Given the description of an element on the screen output the (x, y) to click on. 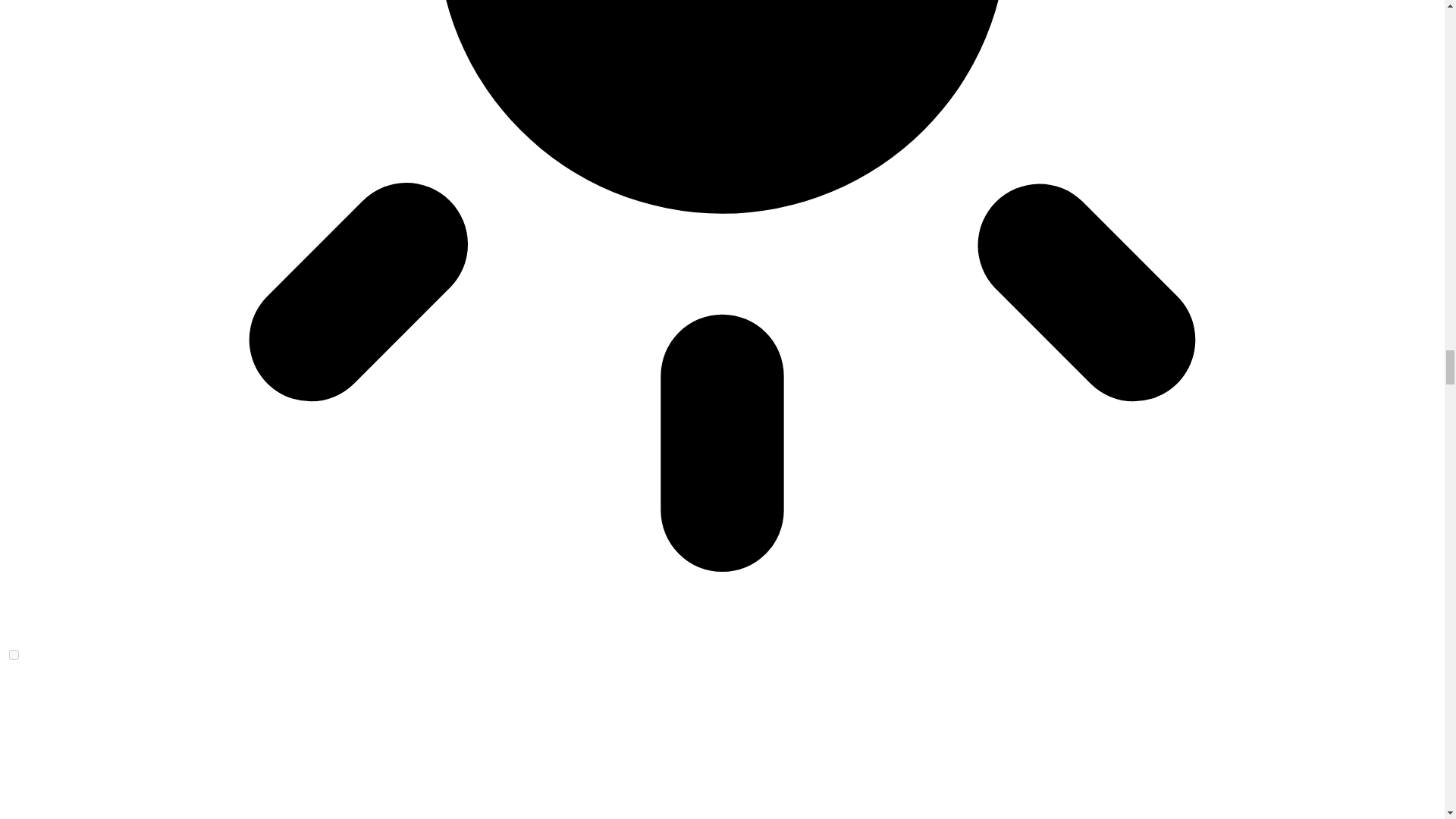
on (13, 655)
